Given the description of an element on the screen output the (x, y) to click on. 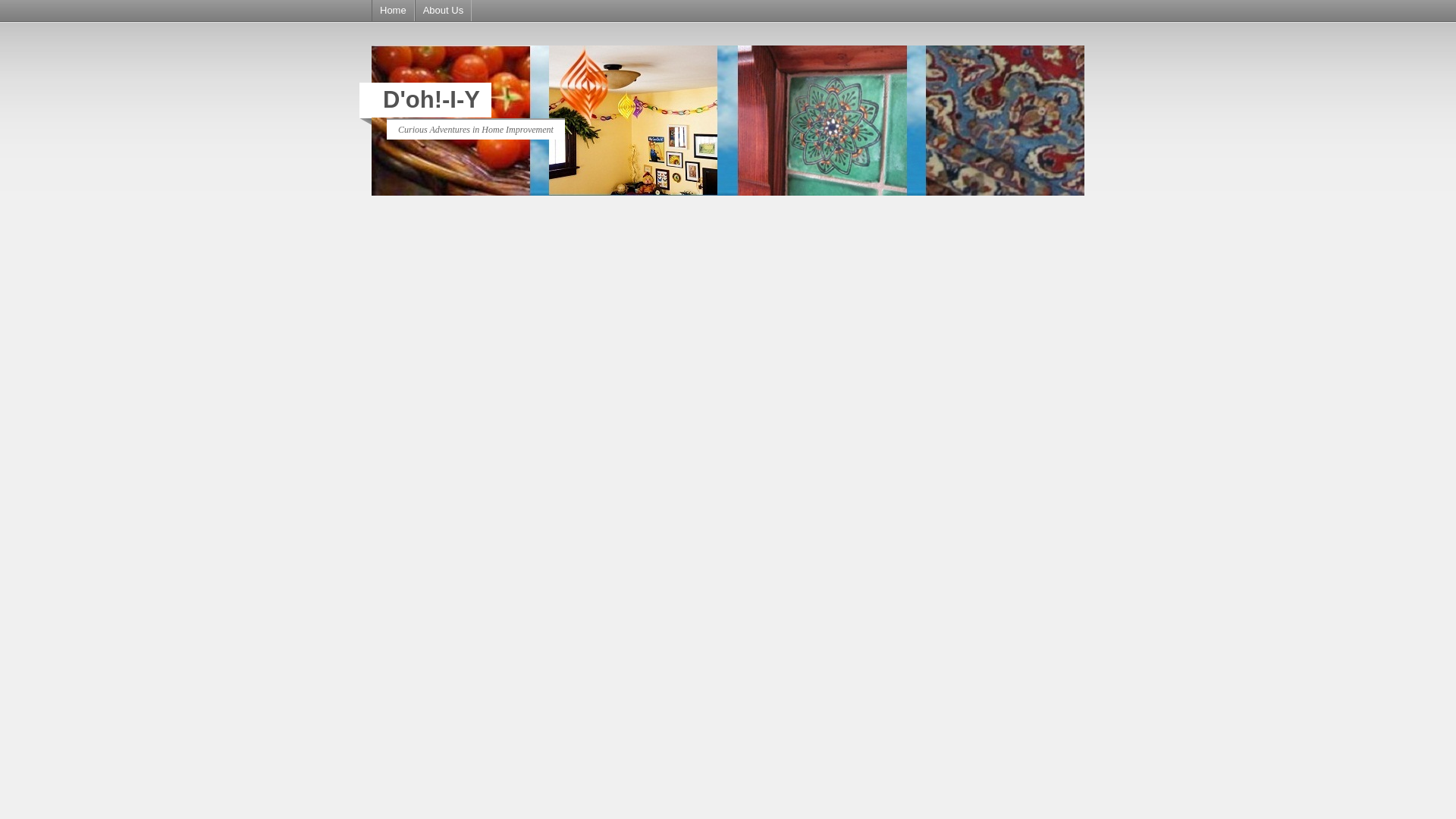
About Us (442, 10)
D'oh!-I-Y (431, 99)
D'oh!-I-Y (431, 99)
Home (392, 10)
